Given the description of an element on the screen output the (x, y) to click on. 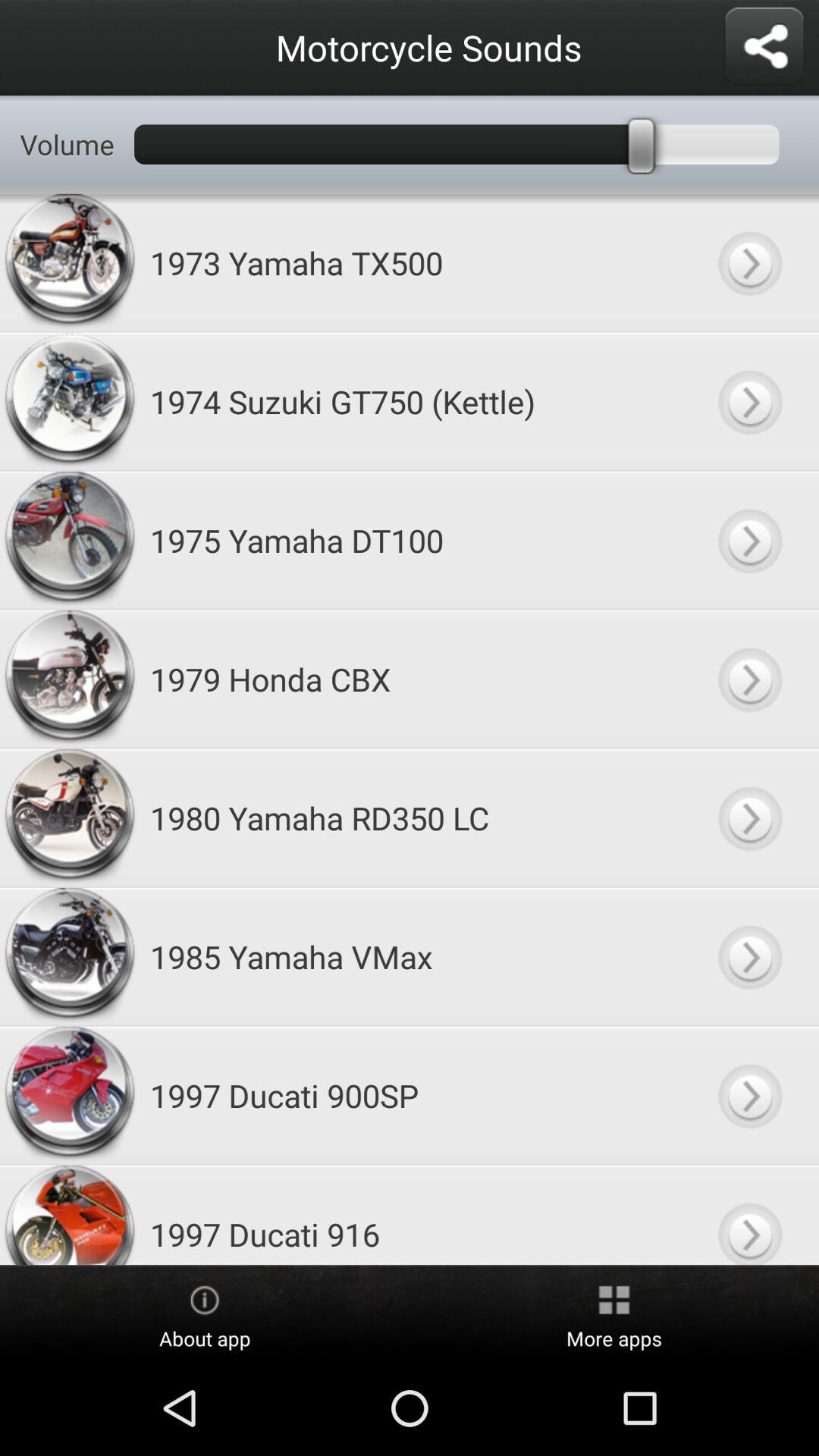
volume page (749, 818)
